Given the description of an element on the screen output the (x, y) to click on. 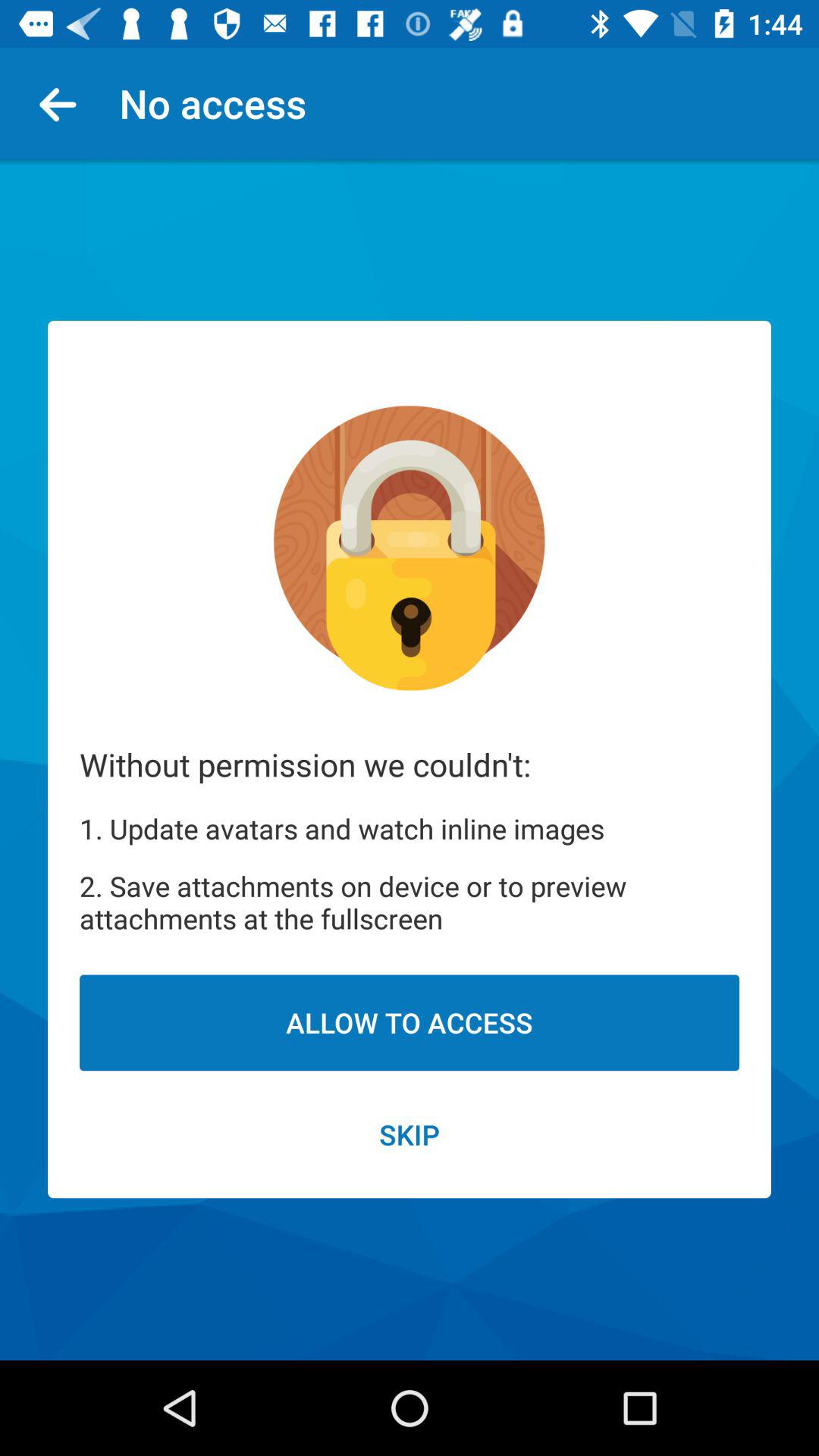
scroll until allow to access item (409, 1022)
